Given the description of an element on the screen output the (x, y) to click on. 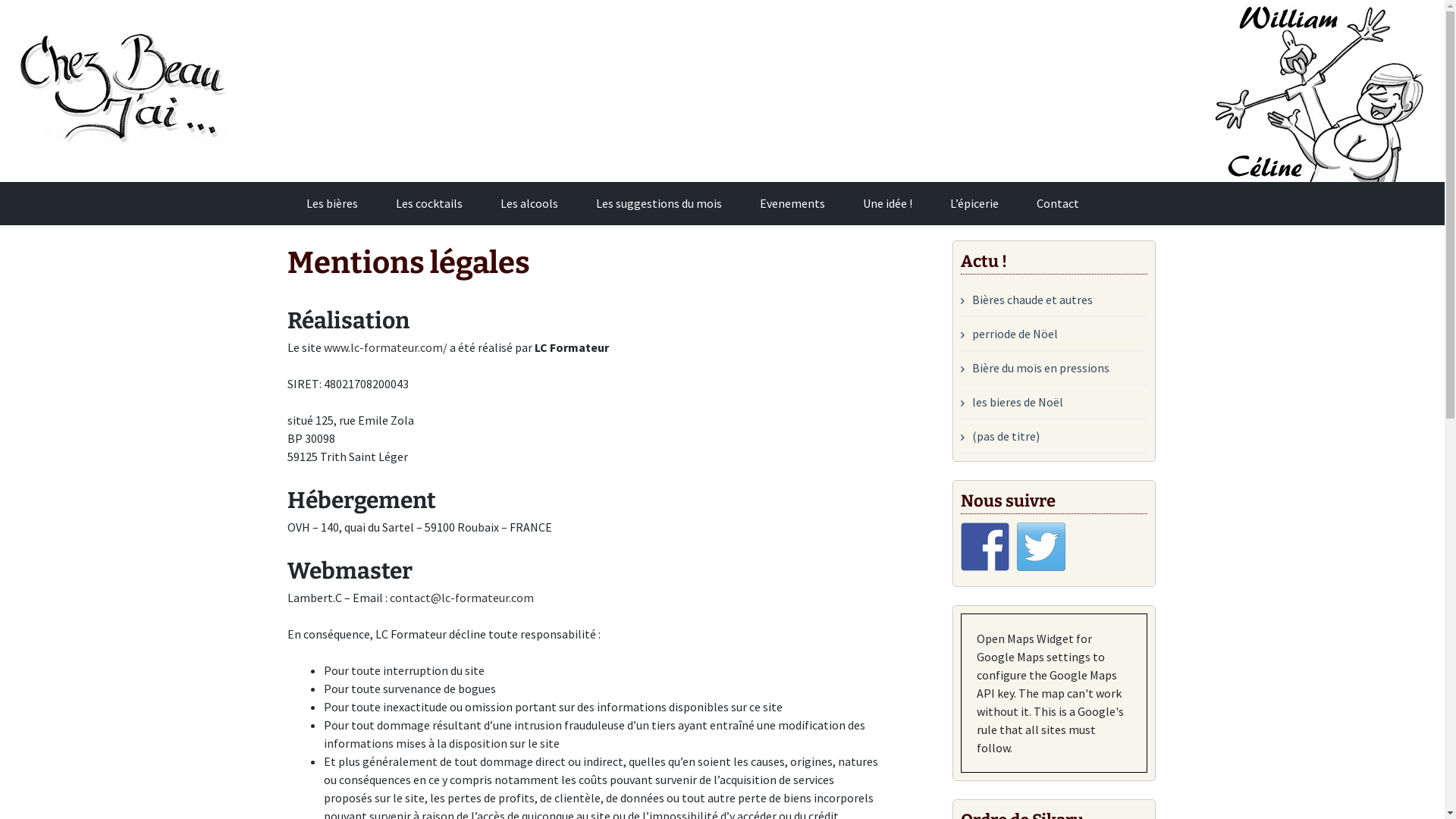
Contact Element type: text (1057, 203)
Les alcools Element type: text (529, 203)
Nous suivre sur Twitter Element type: hover (1040, 546)
Evenements Element type: text (792, 203)
(pas de titre) Element type: text (999, 435)
Les cocktails Element type: text (428, 203)
Nous suivre sur Facebook Element type: hover (984, 546)
contact@lc-formateur.com Element type: text (461, 597)
Les suggestions du mois Element type: text (658, 203)
www.lc-formateur.com/ Element type: text (385, 346)
